Given the description of an element on the screen output the (x, y) to click on. 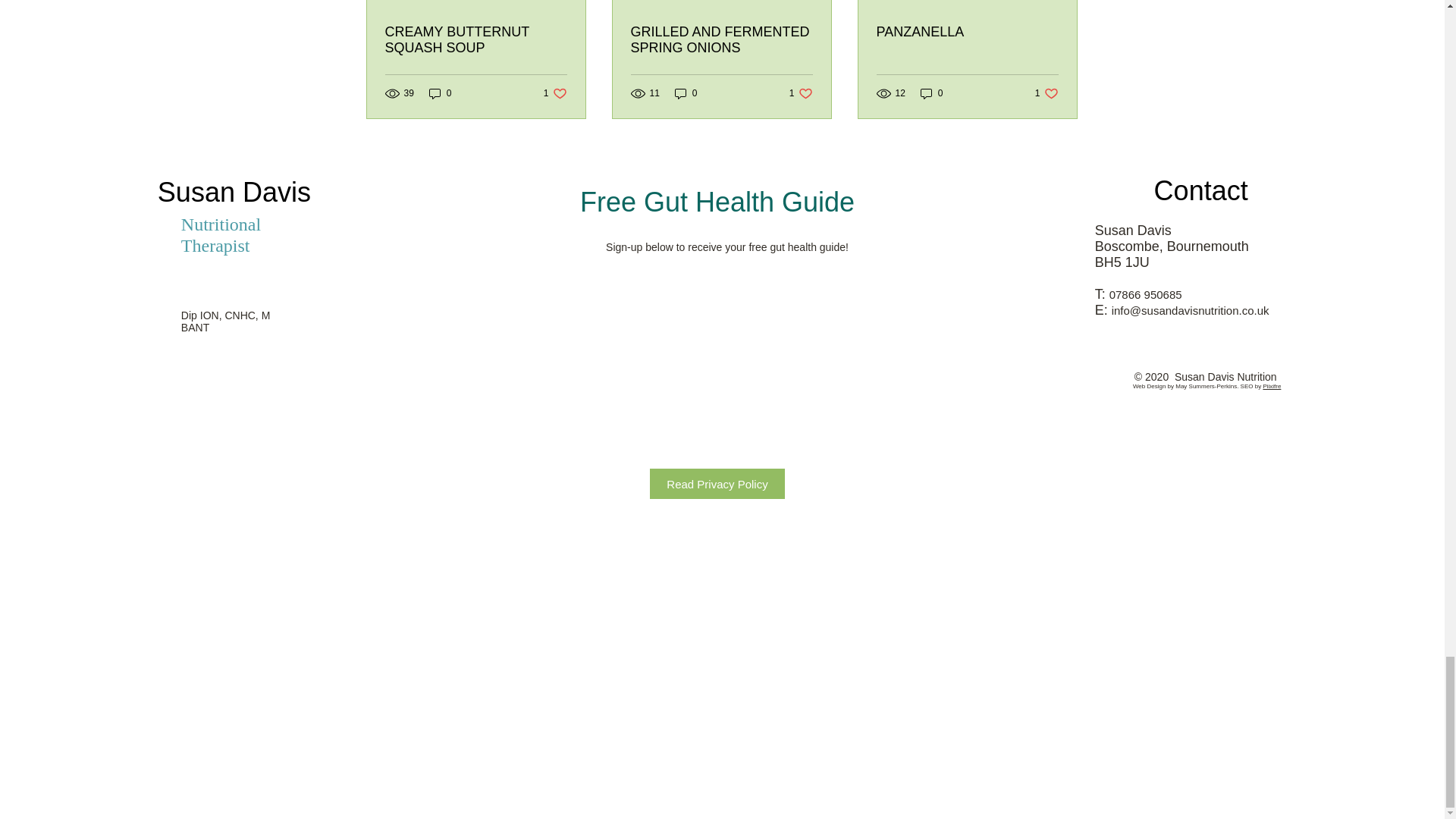
GRILLED AND FERMENTED SPRING ONIONS (800, 93)
0 (721, 40)
Twitter Follow (1046, 93)
0 (685, 93)
PANZANELLA (183, 390)
CREAMY BUTTERNUT SQUASH SOUP (555, 93)
0 (931, 93)
